Given the description of an element on the screen output the (x, y) to click on. 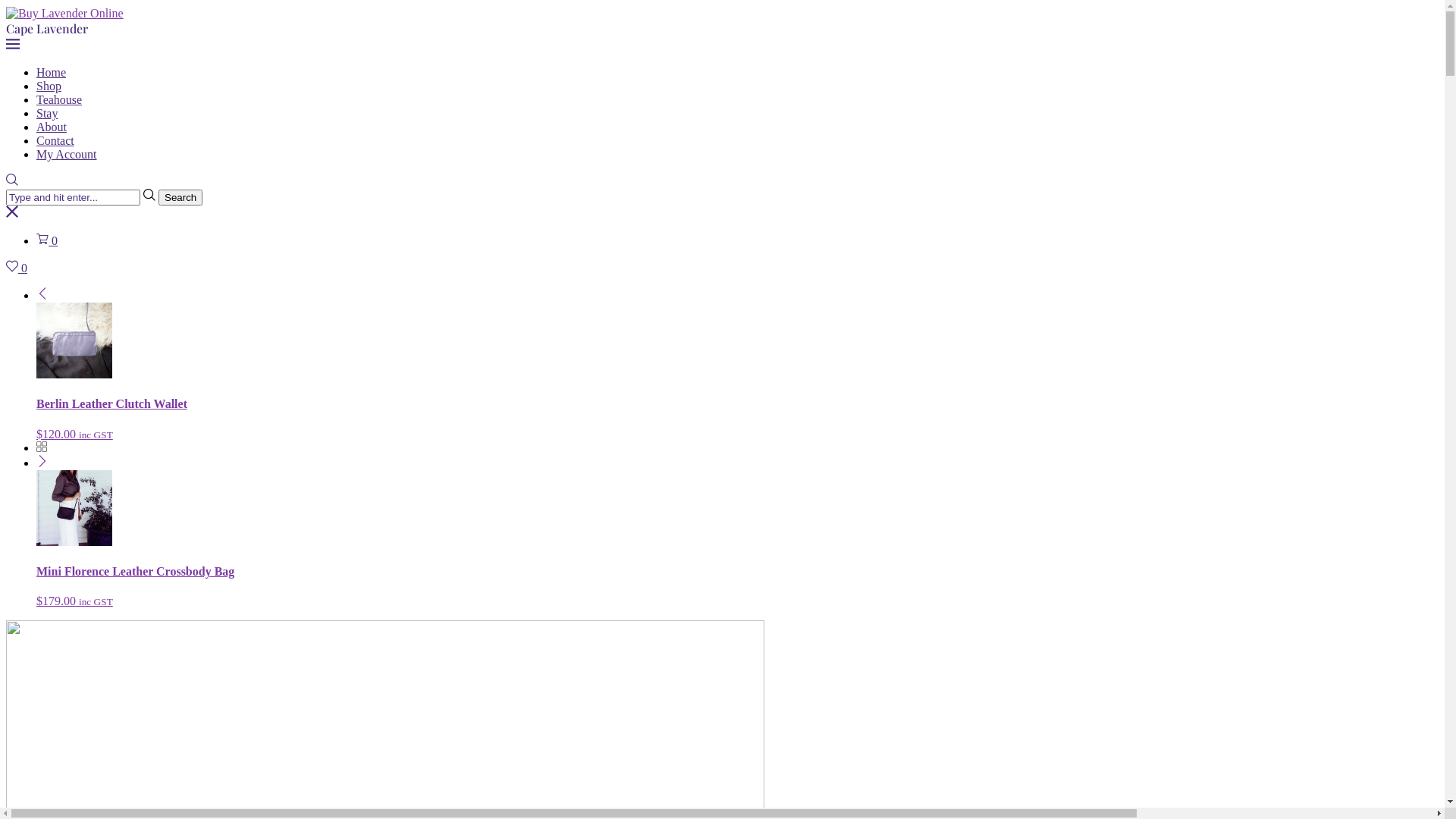
Teahouse Element type: text (58, 99)
$120.00 inc GST Element type: text (74, 433)
0 Element type: text (16, 267)
Contact Element type: text (55, 140)
Berlin Leather Clutch Wallet Element type: text (111, 403)
Search Element type: text (180, 197)
0 Element type: text (46, 240)
$179.00 inc GST Element type: text (74, 600)
My Account Element type: text (66, 153)
Mini Florence Leather Crossbody Bag Element type: text (135, 570)
About Element type: text (51, 126)
Shop Element type: text (48, 85)
Stay Element type: text (46, 112)
Home Element type: text (50, 71)
